Given the description of an element on the screen output the (x, y) to click on. 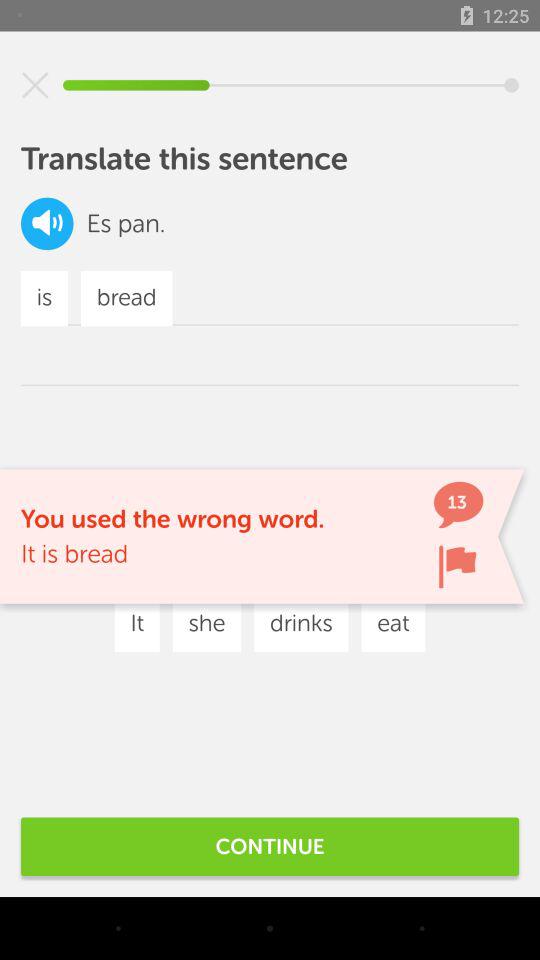
turn off icon to the right of the it (206, 624)
